Given the description of an element on the screen output the (x, y) to click on. 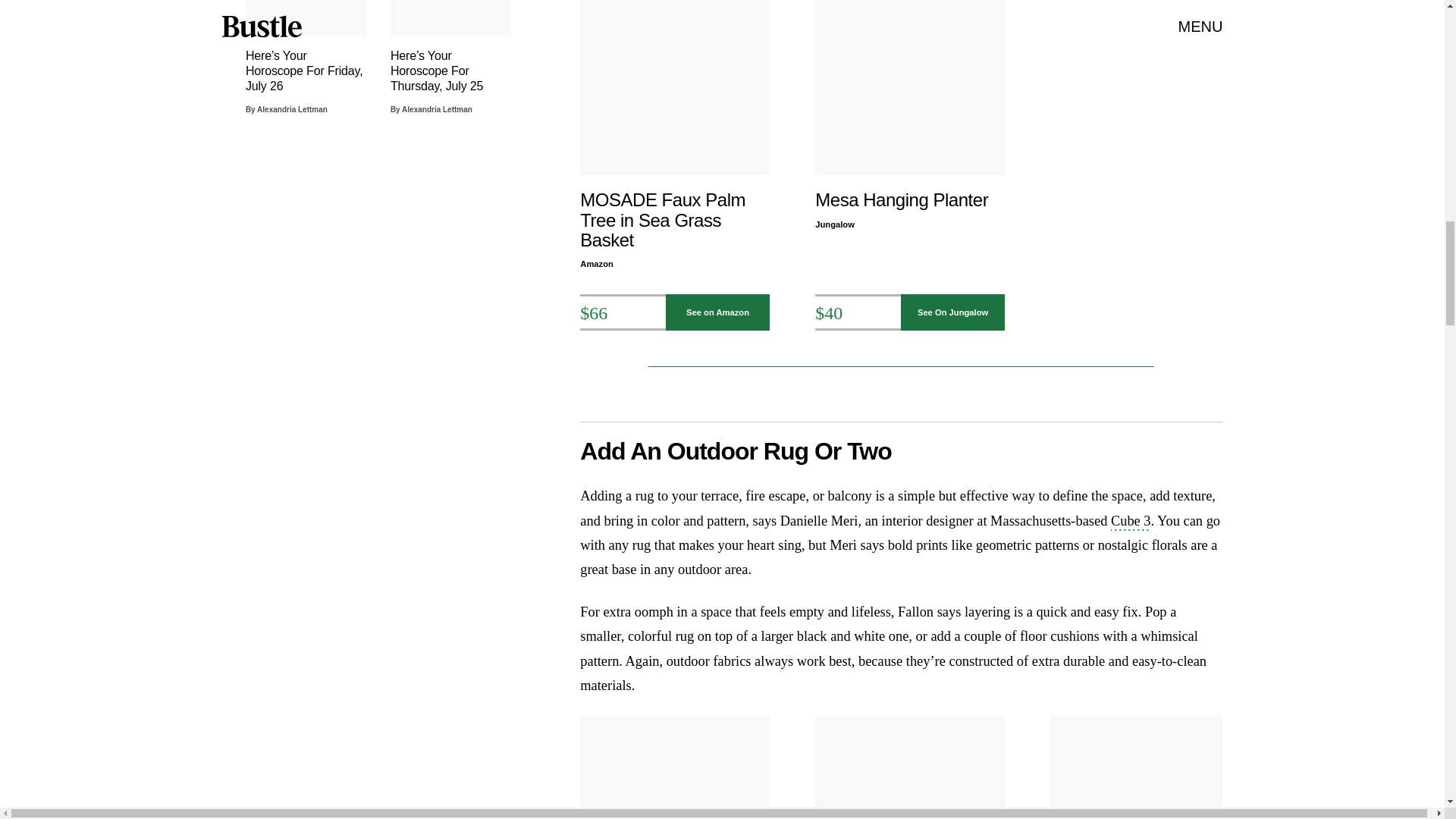
See On Jungalow (953, 312)
Cube 3 (1130, 522)
See on Amazon (717, 312)
